Given the description of an element on the screen output the (x, y) to click on. 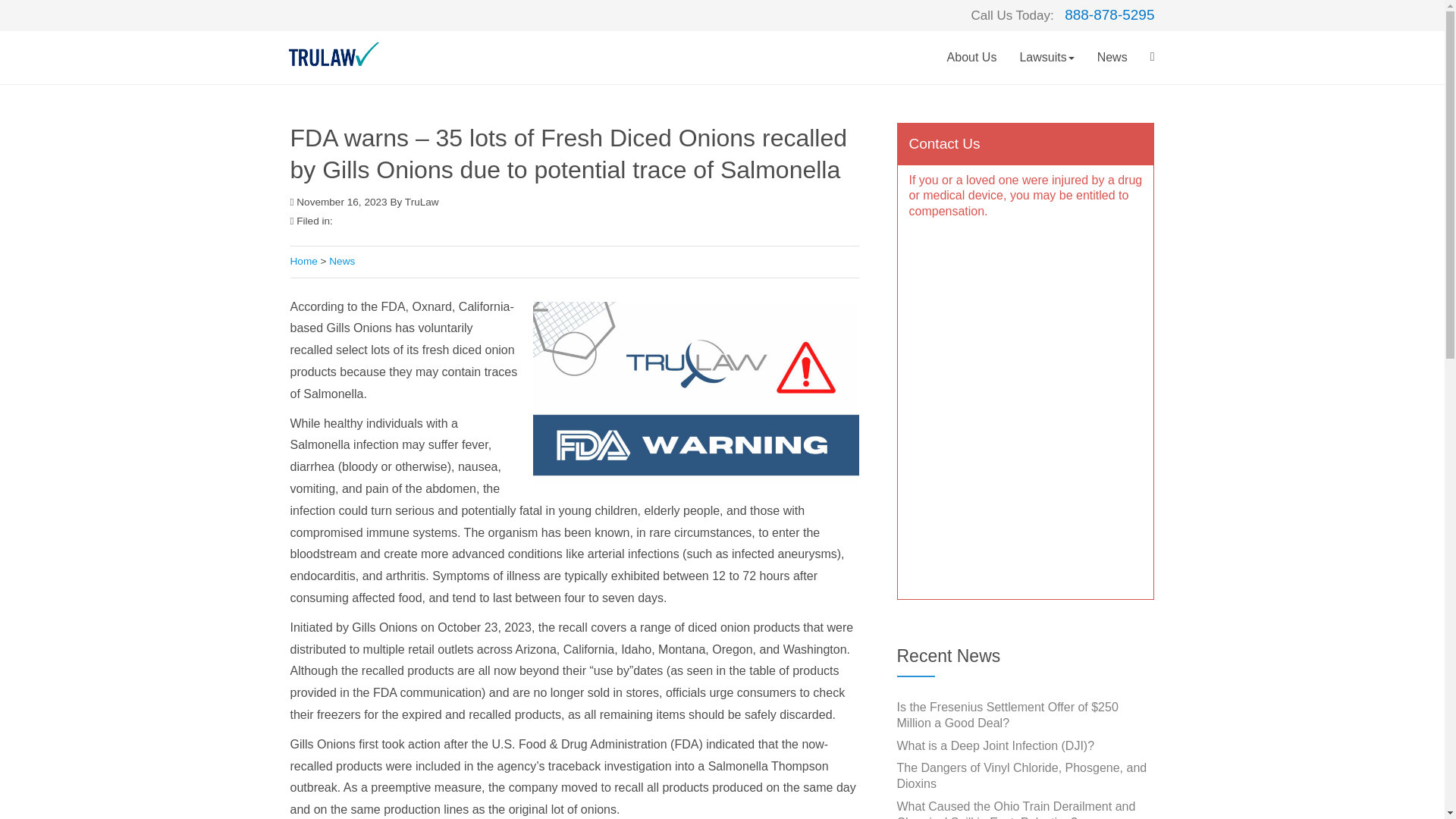
888-878-5295 (1109, 15)
Lawsuits (1045, 57)
About Us (972, 57)
News (1112, 57)
